Given the description of an element on the screen output the (x, y) to click on. 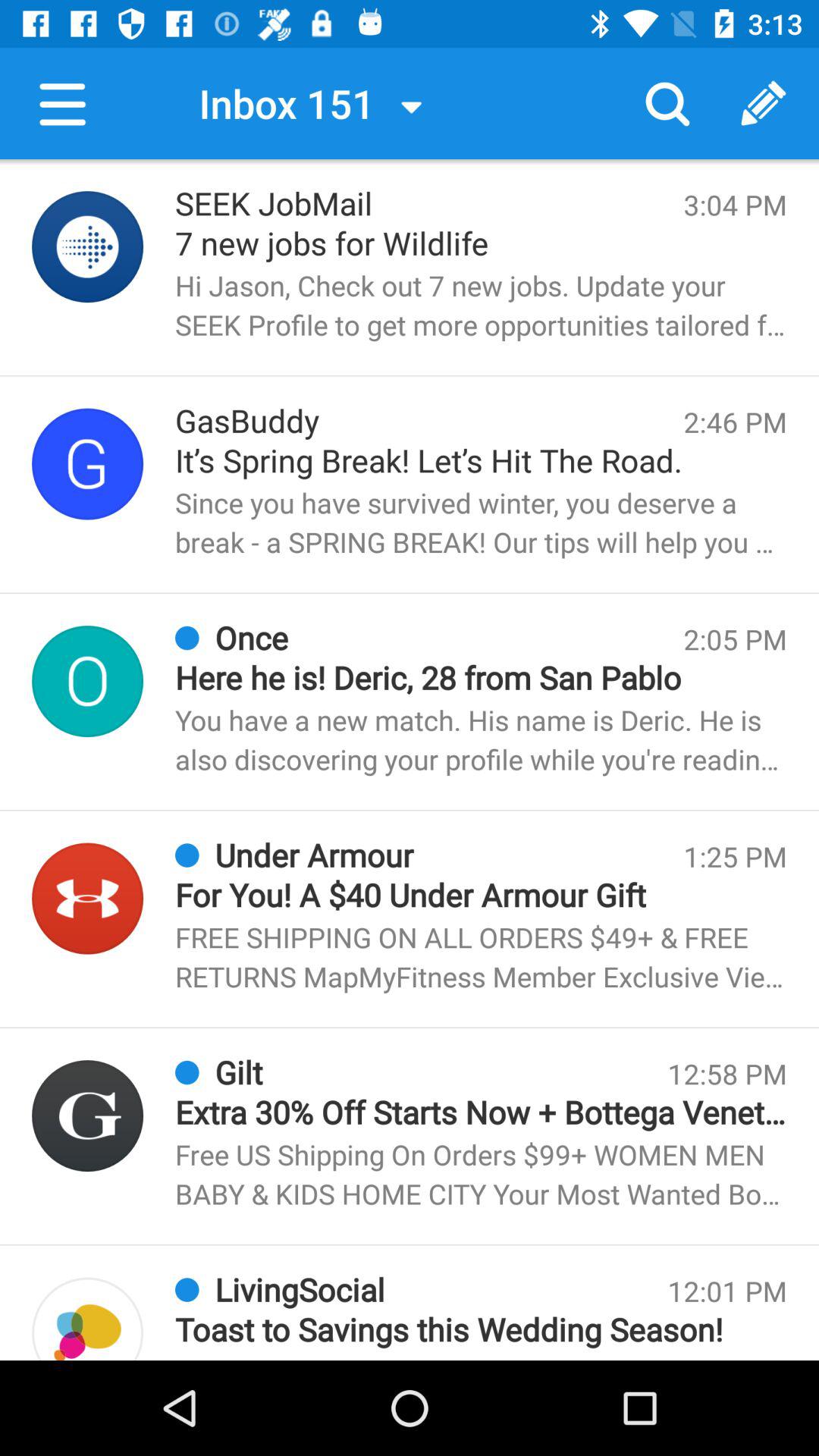
find jobs link (87, 246)
